Given the description of an element on the screen output the (x, y) to click on. 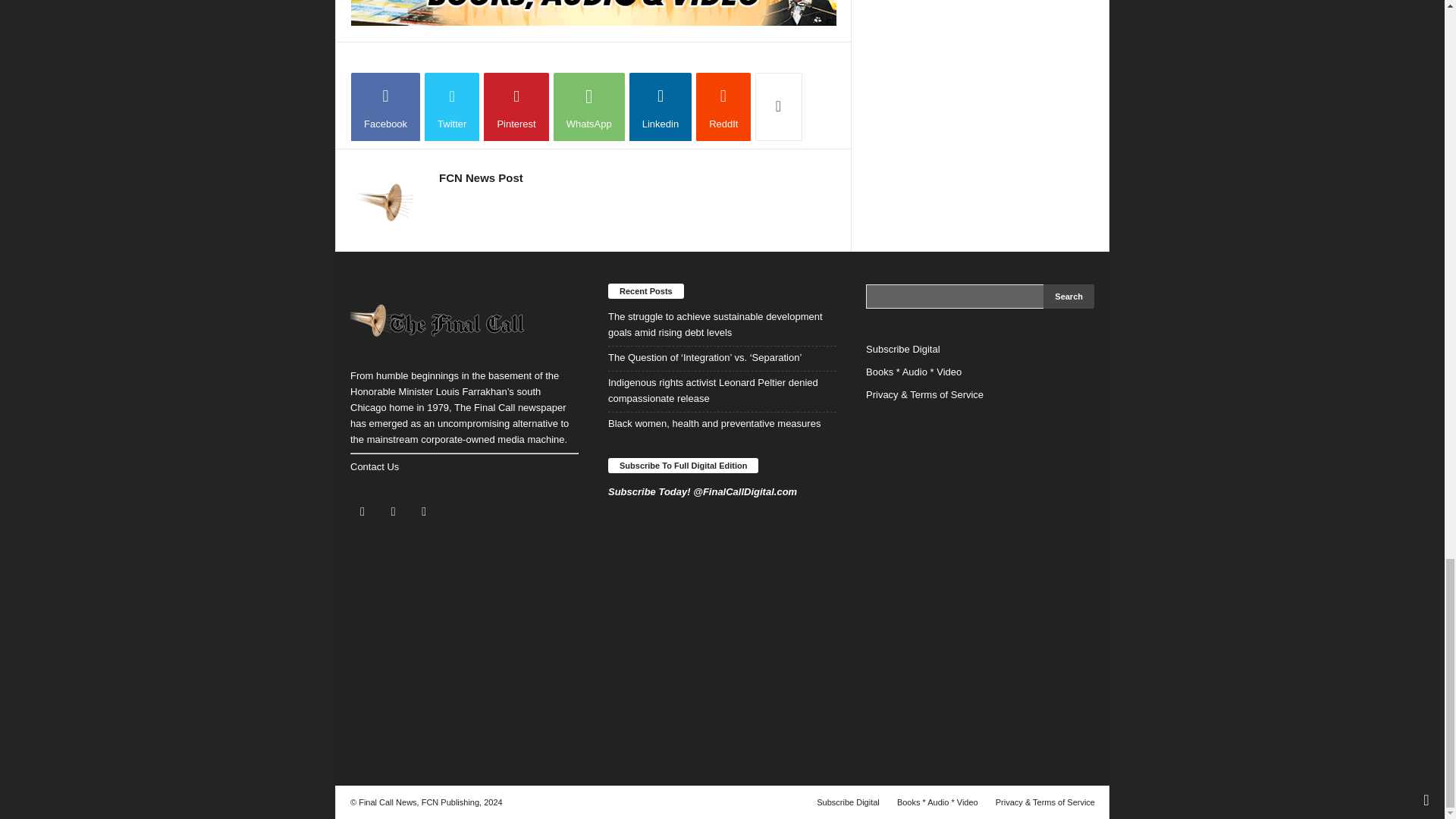
Search (1068, 296)
